Given the description of an element on the screen output the (x, y) to click on. 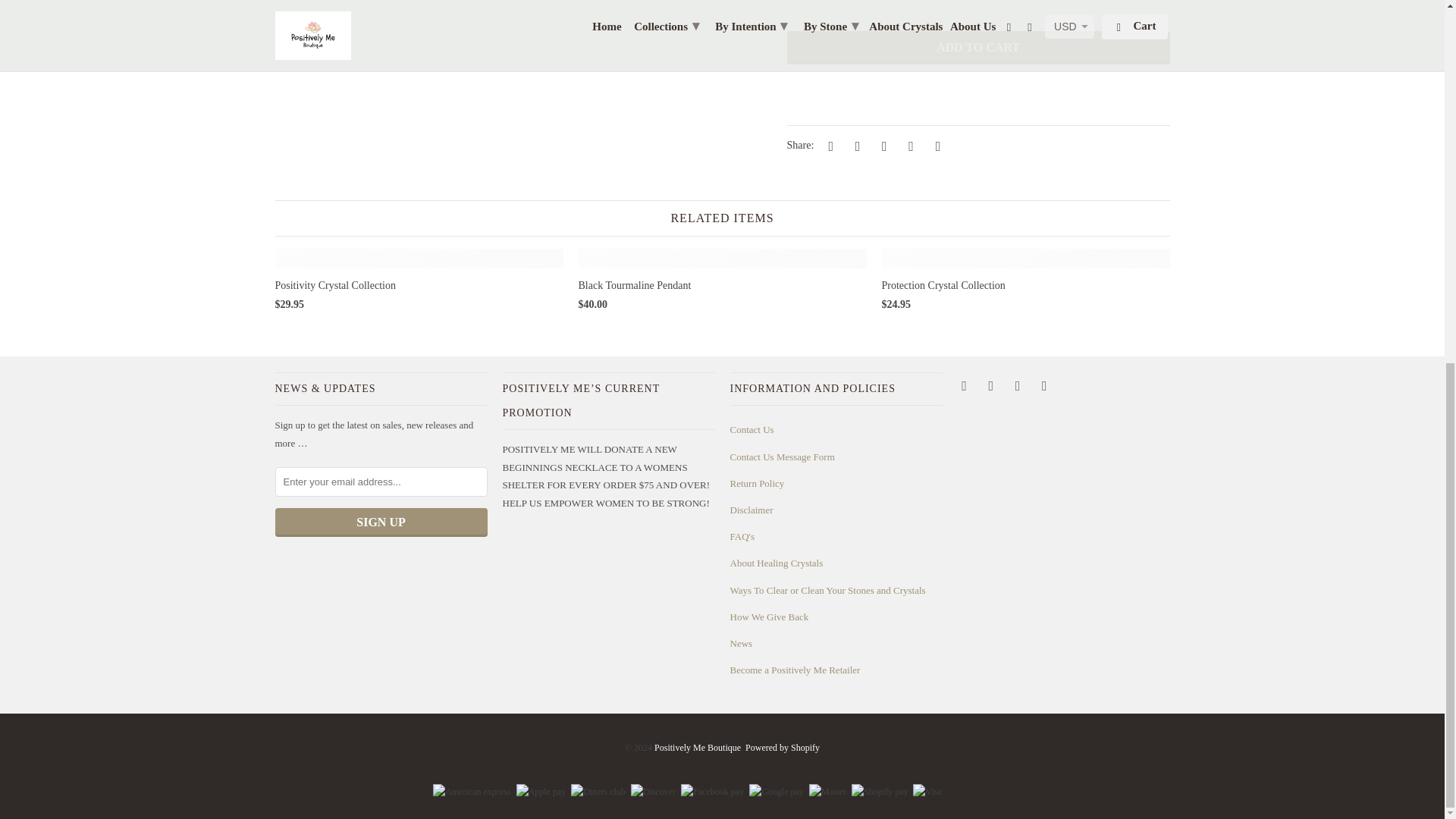
Share this on Pinterest (881, 145)
Email this to a friend (935, 145)
Sign Up (380, 522)
Share this on Twitter (828, 145)
Share this on Facebook (855, 145)
